Given the description of an element on the screen output the (x, y) to click on. 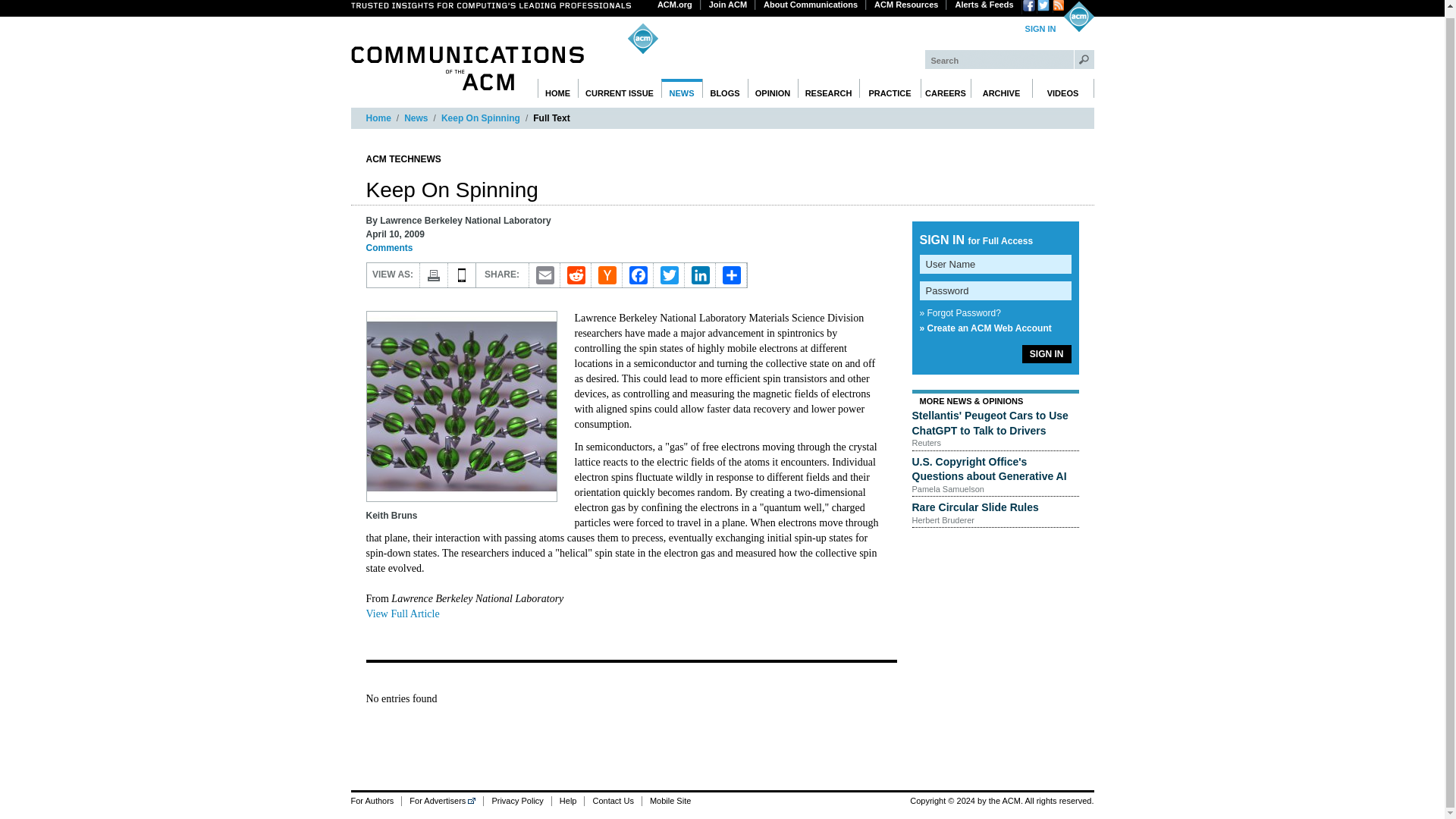
NEWS (682, 87)
PRACTICE (889, 87)
CAREERS (945, 87)
ACM (1077, 16)
Print (434, 274)
For Advertisers (442, 800)
ACM.org (674, 4)
ACM Resources (906, 4)
ACM Resources (906, 4)
Go (1084, 58)
MOBILE APPS (461, 274)
Communications of the ACM (466, 67)
Help (568, 800)
ACM.org (674, 4)
About Communications (810, 4)
